Given the description of an element on the screen output the (x, y) to click on. 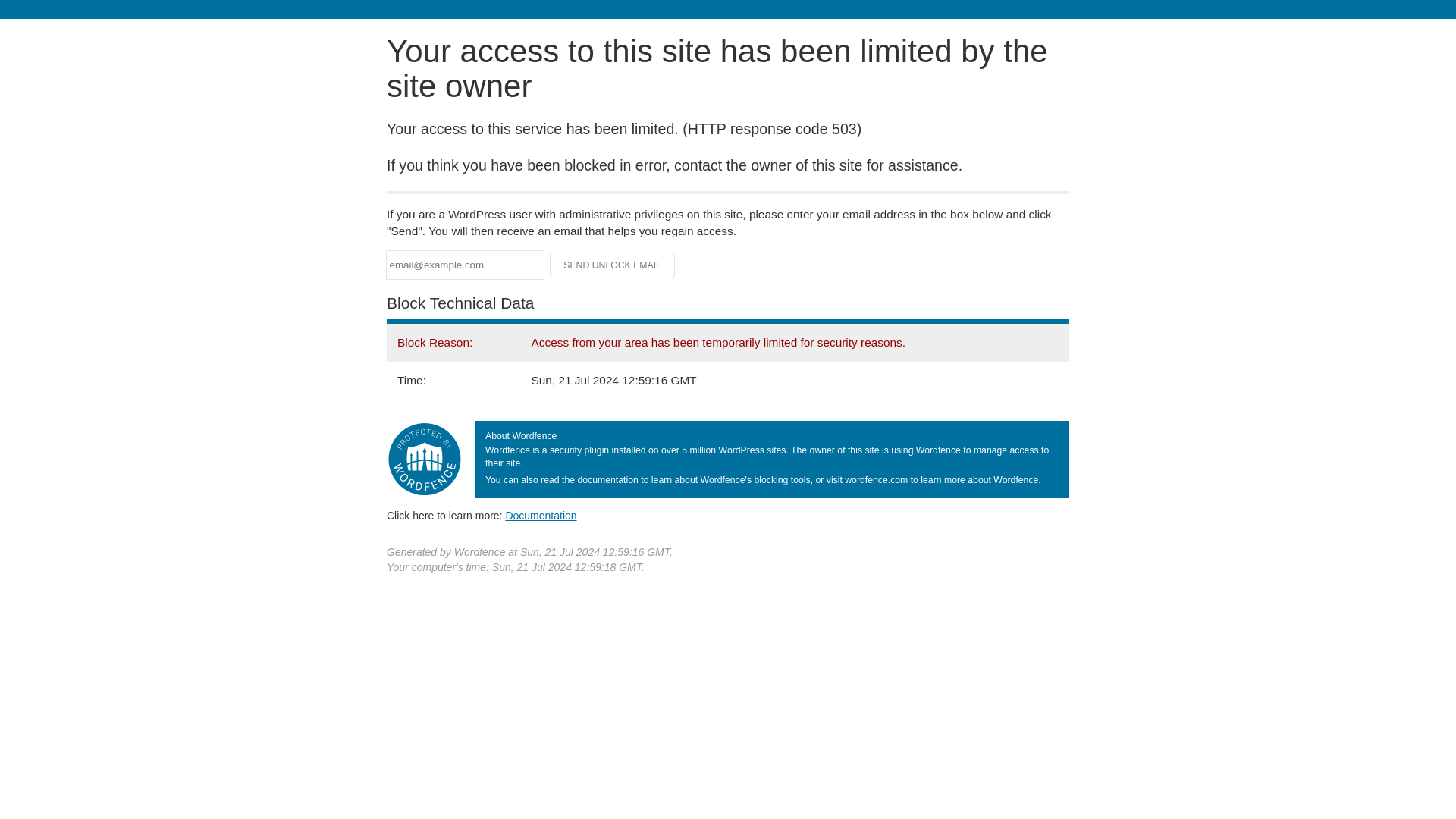
Send Unlock Email (612, 265)
Documentation (540, 515)
Send Unlock Email (612, 265)
